Given the description of an element on the screen output the (x, y) to click on. 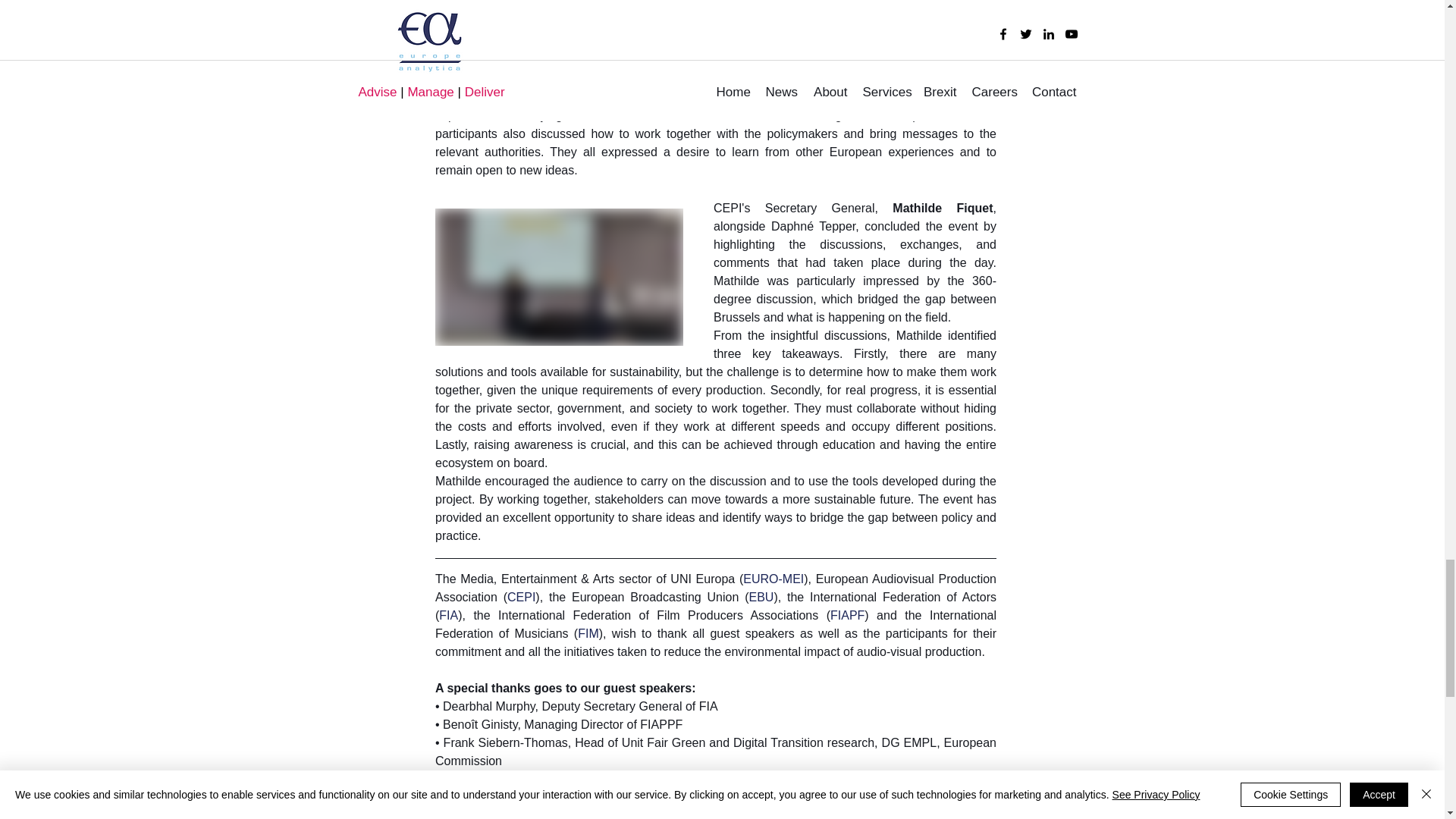
EURO-MEI (772, 578)
FIA (448, 615)
FIAPF (846, 615)
EBU (760, 596)
CEPI (520, 596)
FIM (588, 633)
